Given the description of an element on the screen output the (x, y) to click on. 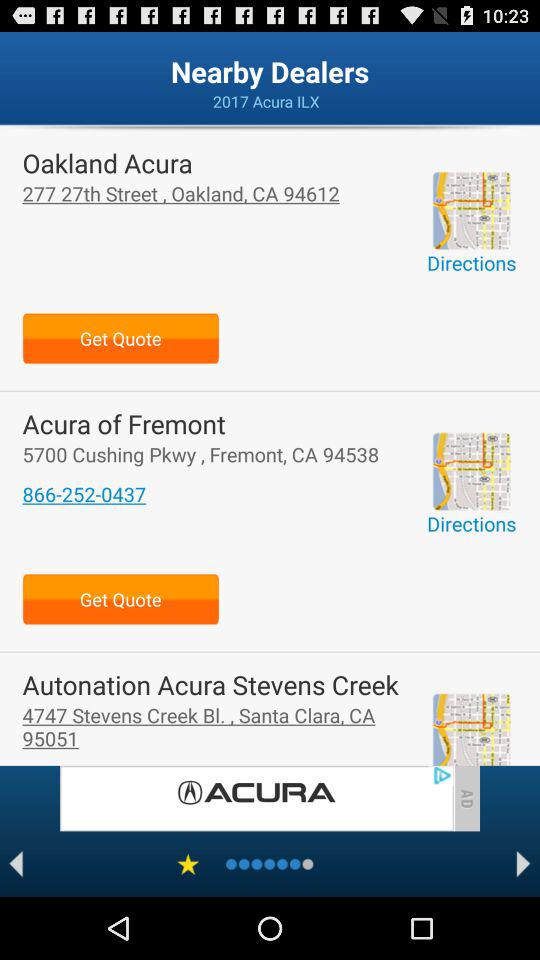
link to advertisement (256, 798)
